Given the description of an element on the screen output the (x, y) to click on. 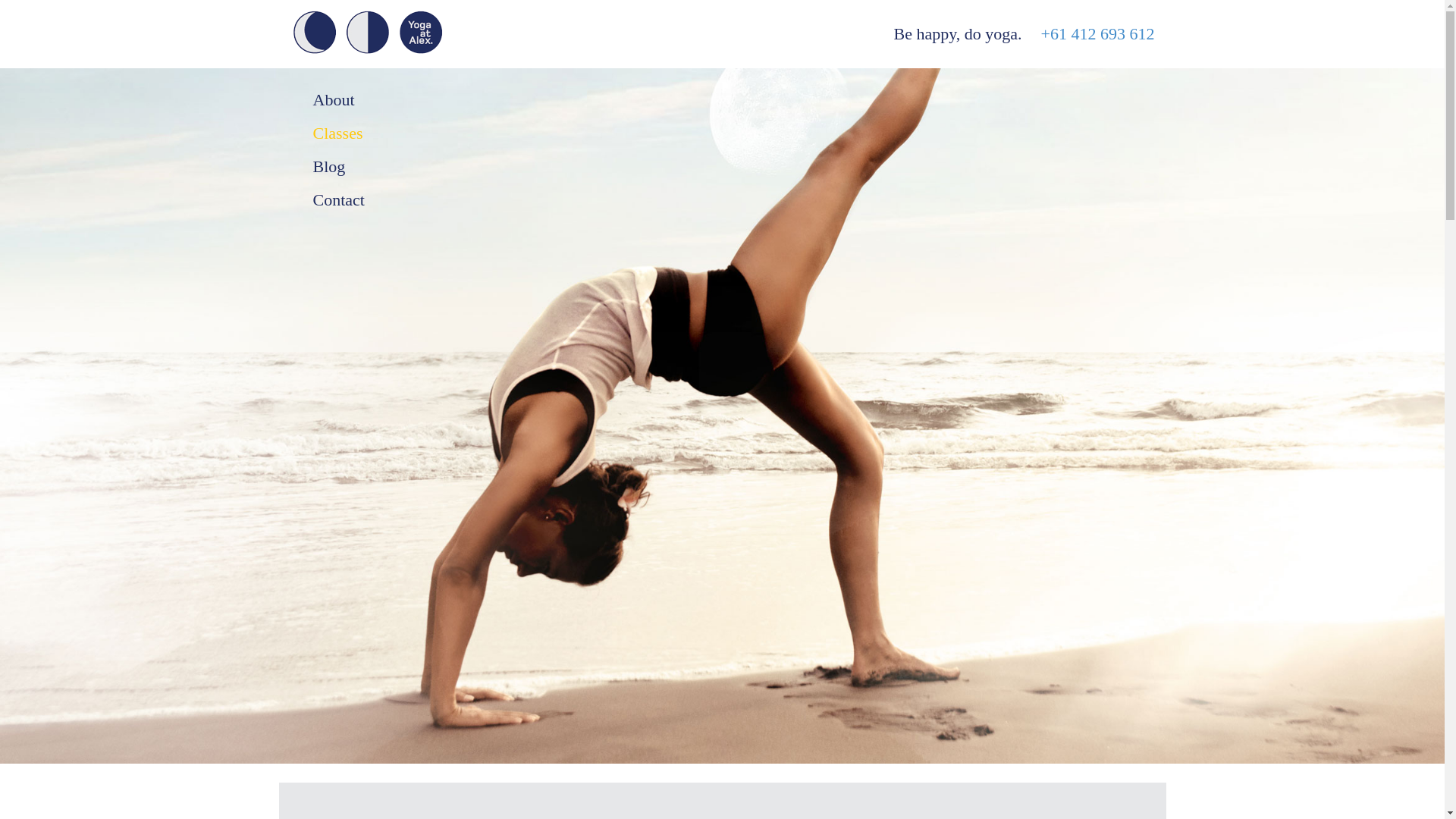
Contact (388, 200)
Classes (388, 133)
Logo (420, 31)
Blog (388, 166)
About (388, 100)
Logo (366, 31)
Logo (314, 31)
